Given the description of an element on the screen output the (x, y) to click on. 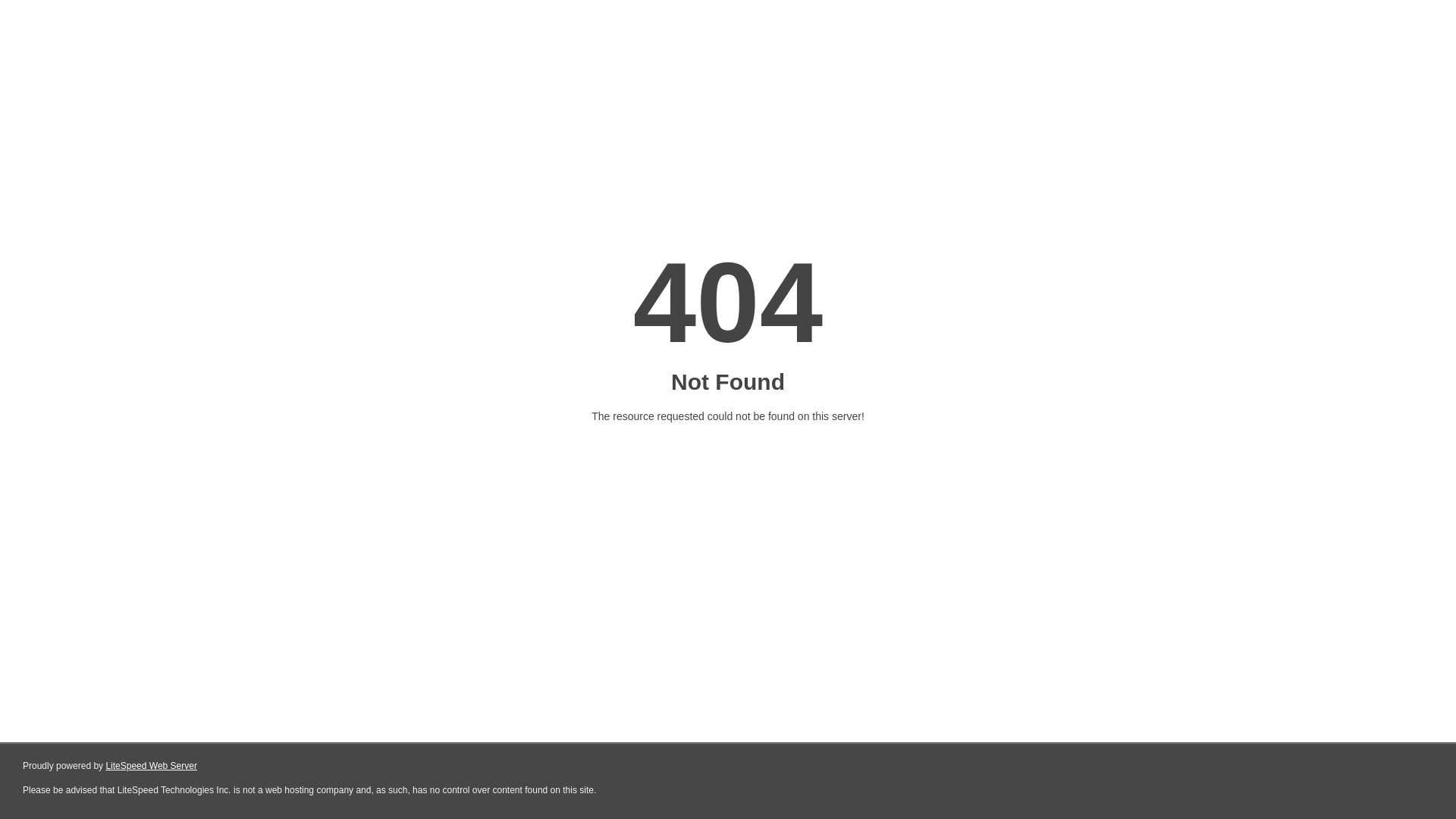
LiteSpeed Web Server Element type: text (151, 765)
